Given the description of an element on the screen output the (x, y) to click on. 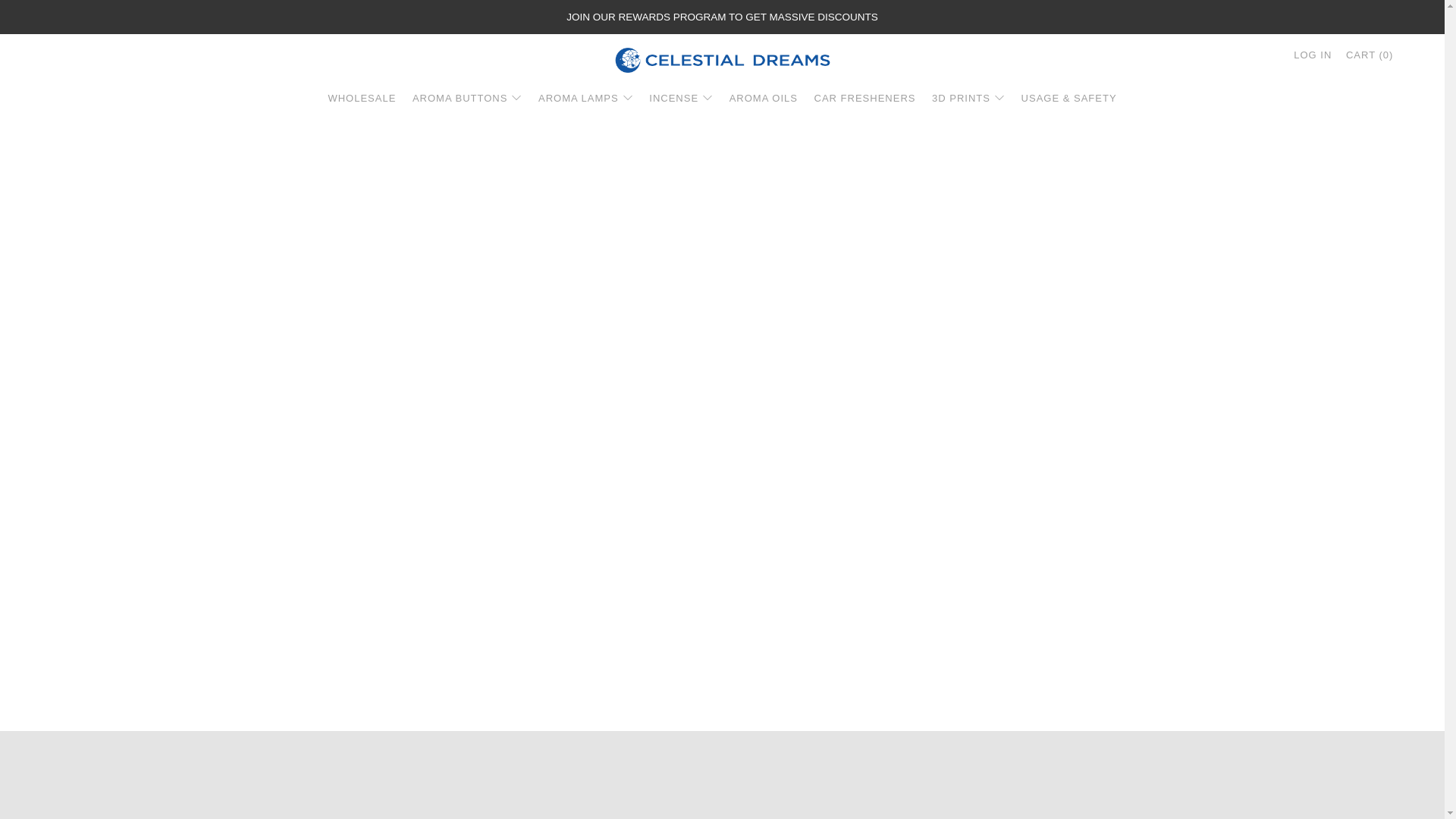
AROMA OILS (763, 98)
INCENSE (681, 98)
WHOLESALE (361, 98)
AROMA LAMPS (585, 98)
CAR FRESHENERS (864, 98)
AROMA BUTTONS (466, 98)
